Given the description of an element on the screen output the (x, y) to click on. 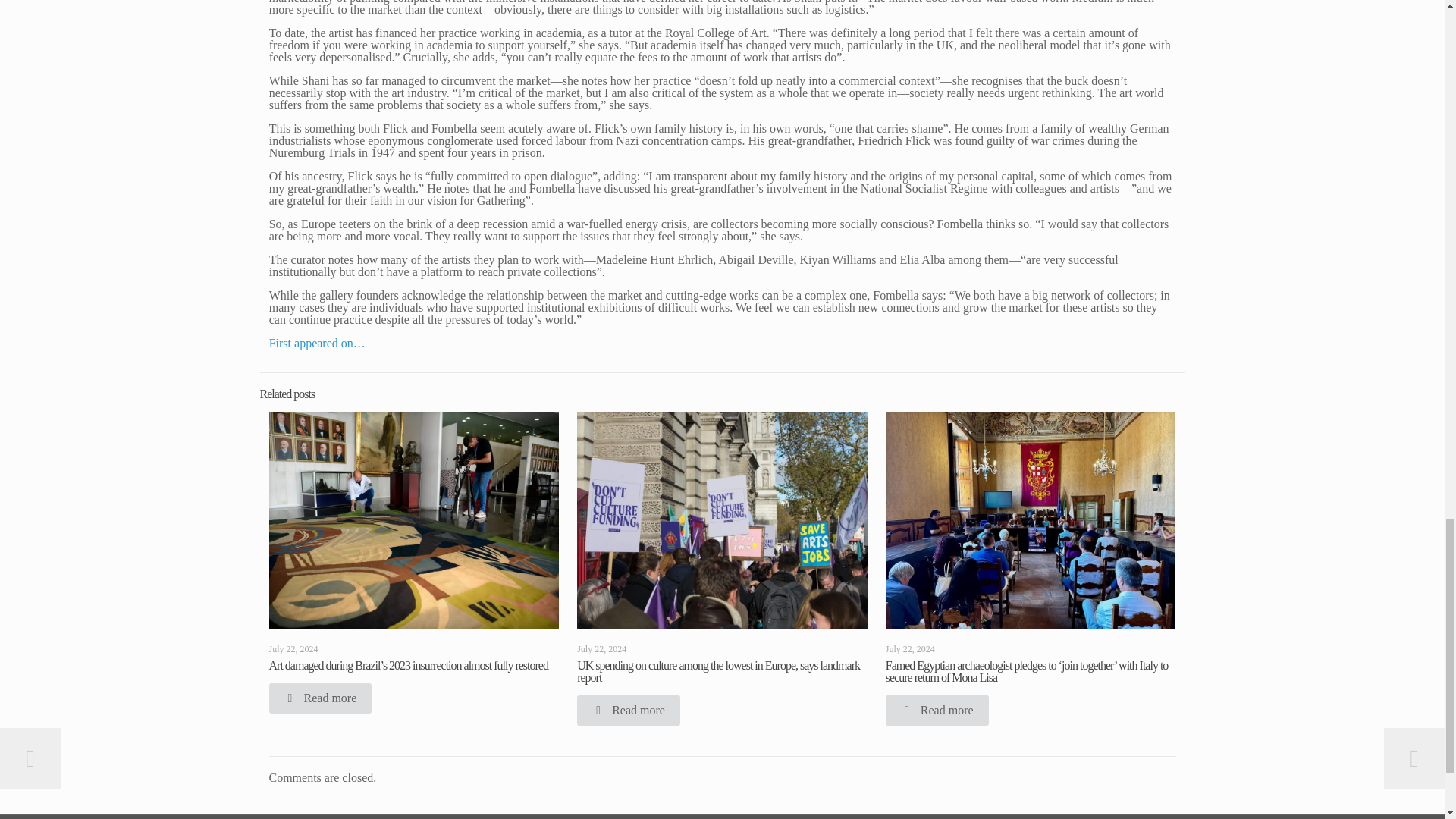
Read more (319, 697)
